Given the description of an element on the screen output the (x, y) to click on. 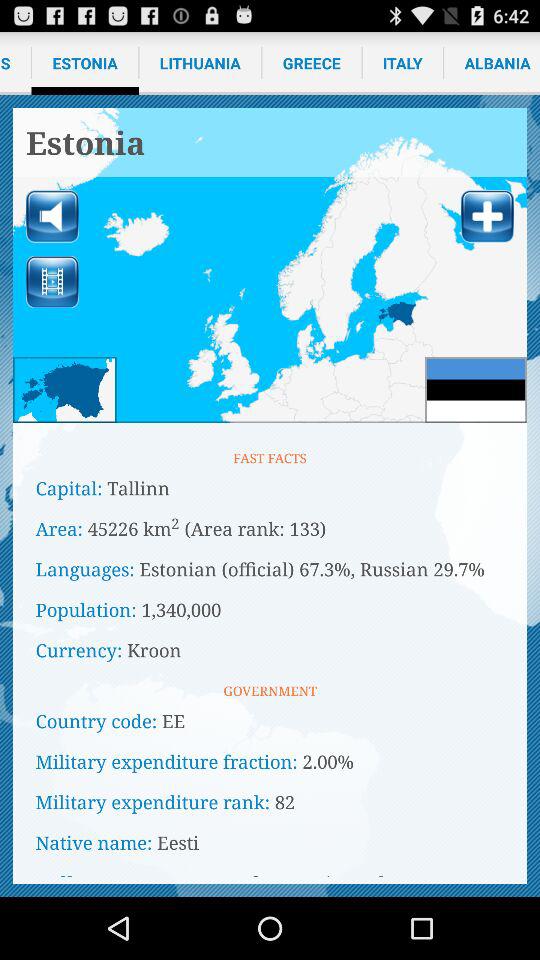
video (52, 281)
